Given the description of an element on the screen output the (x, y) to click on. 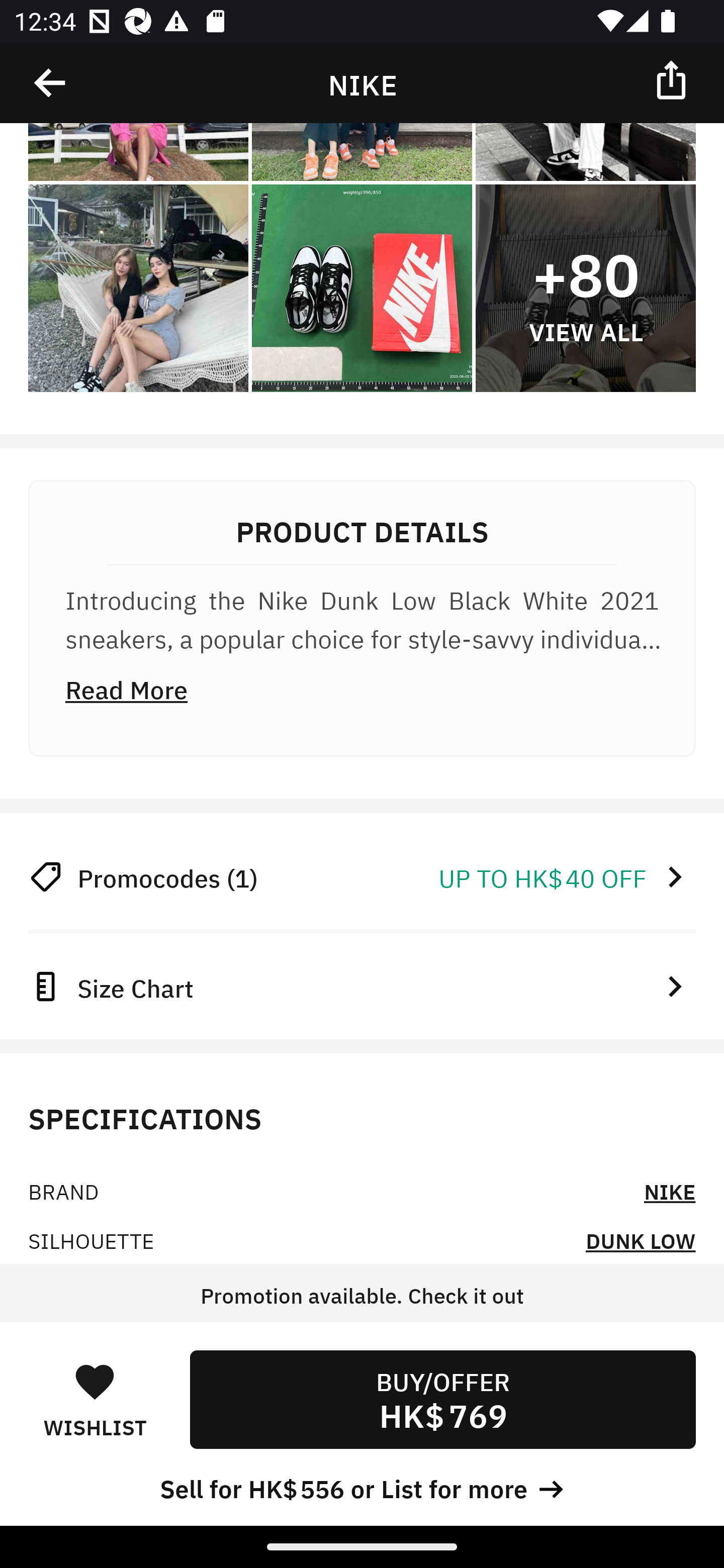
 (50, 83)
 (672, 79)
Promocodes (1) UP TO HK$ 40 OFF  (361, 877)
Size Chart  (361, 986)
NIKE (669, 1190)
DUNK LOW (640, 1239)
BUY/OFFER HK$ 769 (442, 1399)
󰋑 (94, 1380)
Sell for HK$ 556 or List for more (361, 1486)
